Given the description of an element on the screen output the (x, y) to click on. 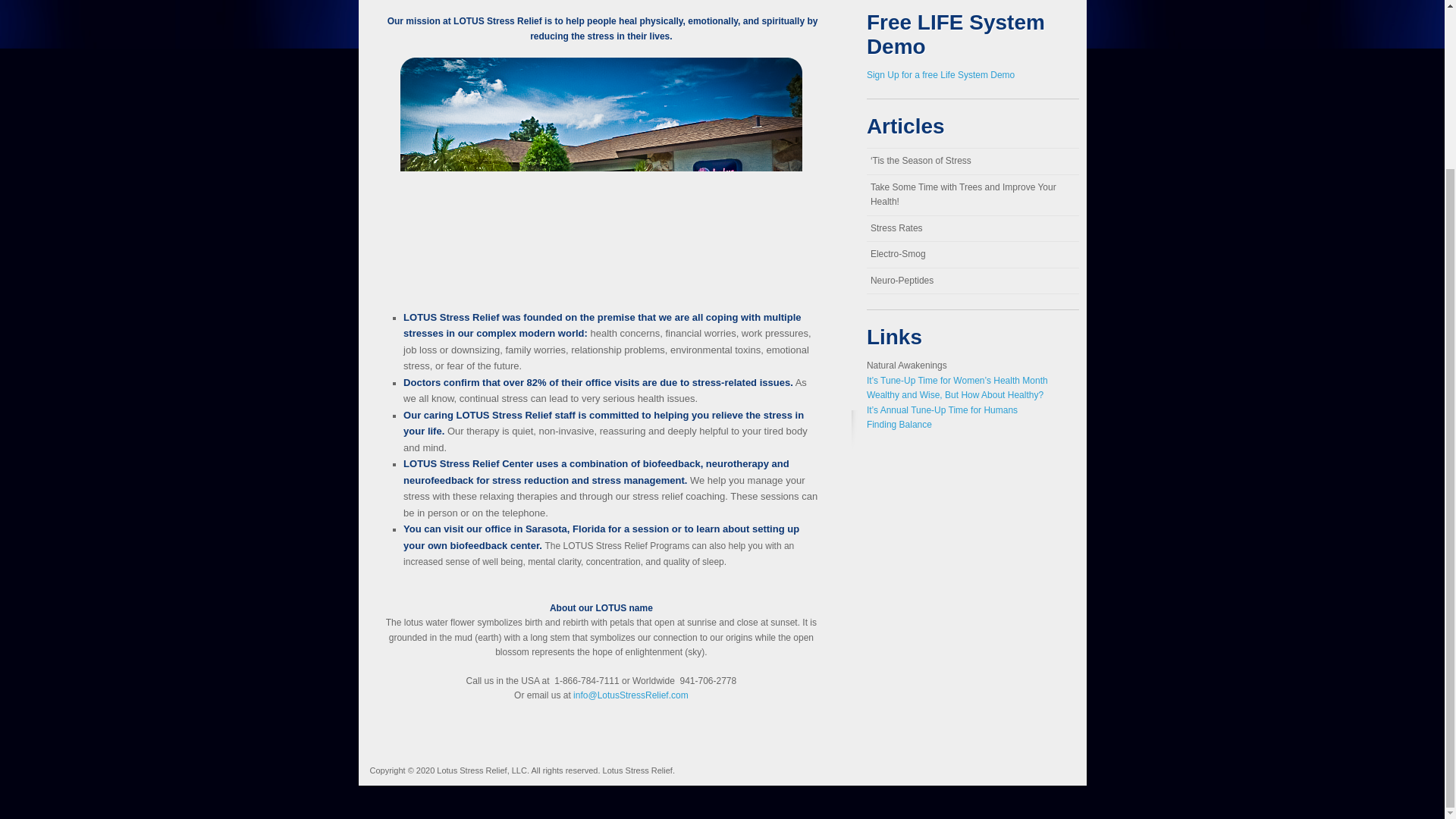
Sign Up for a free Life System Demo (940, 74)
Neuro-Peptides (972, 281)
Electro-Smog (972, 254)
Stress Rates (972, 228)
Finding Balance (898, 424)
Take Some Time with Trees and Improve Your Health! (972, 195)
Wealthy and Wise, But How About Healthy? (954, 394)
